Given the description of an element on the screen output the (x, y) to click on. 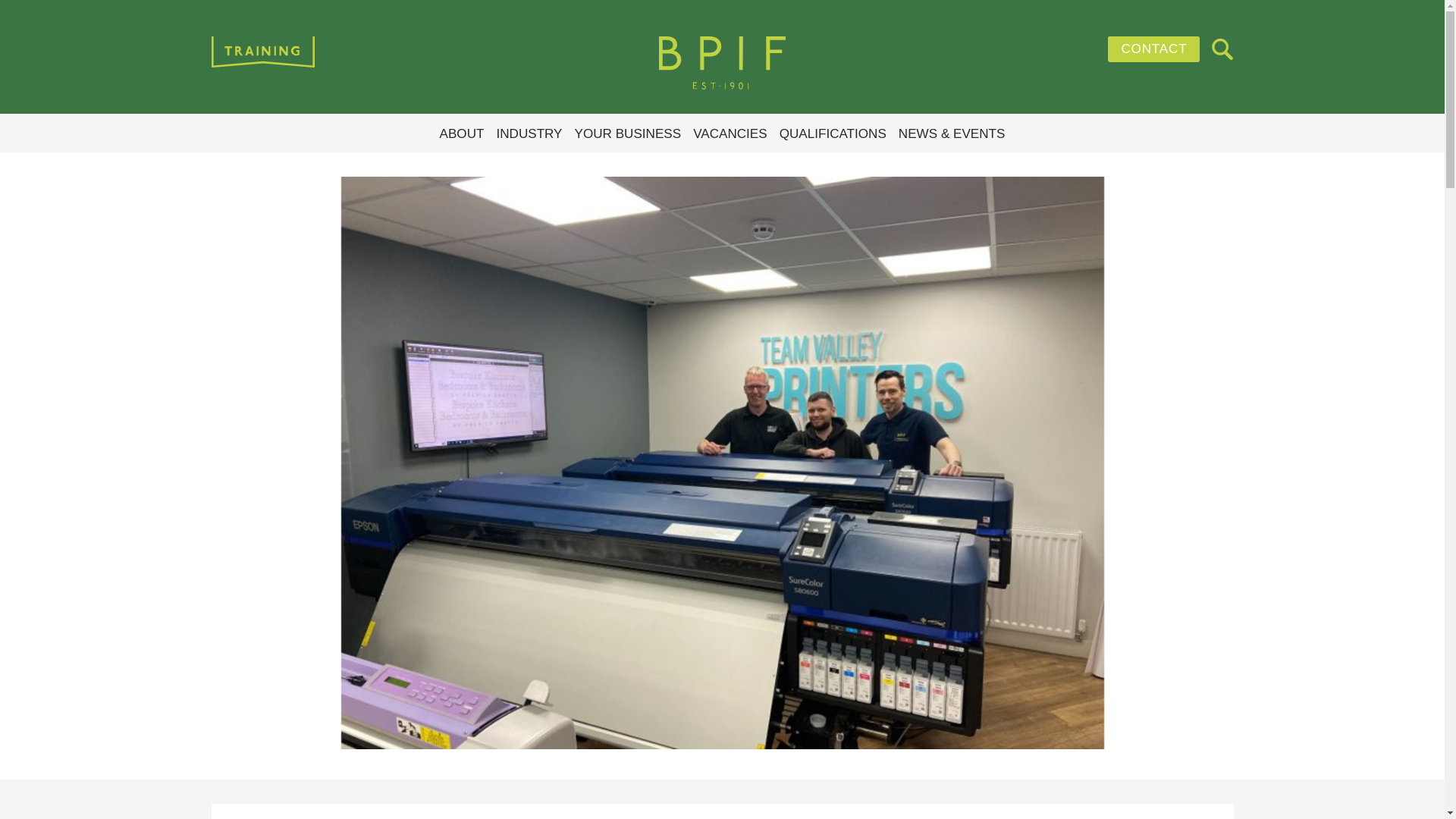
ABOUT (461, 134)
QUALIFICATIONS (832, 134)
CONTACT (1153, 49)
Toggle search bar (1222, 48)
INDUSTRY (529, 134)
VACANCIES (730, 134)
YOUR BUSINESS (628, 134)
BPIF Training (721, 62)
